Given the description of an element on the screen output the (x, y) to click on. 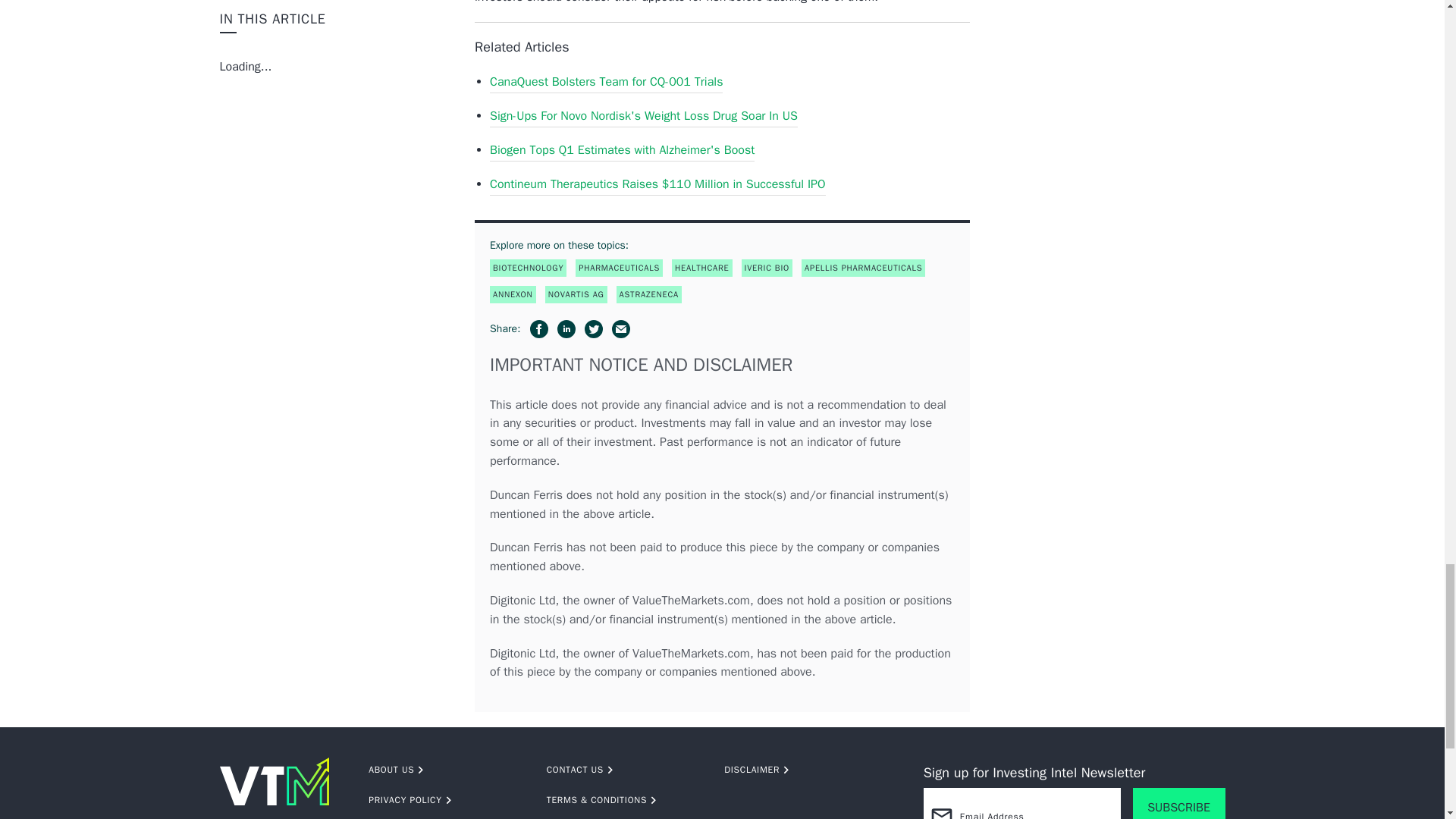
Biogen Tops Q1 Estimates with Alzheimer's Boost (621, 150)
PHARMACEUTICALS (618, 267)
Biogen Tops Q1 Estimates with Alzheimer's Boost (621, 150)
CanaQuest Bolsters Team for CQ-001 Trials (605, 82)
CanaQuest Bolsters Team for CQ-001 Trials (605, 82)
Sign-Ups For Novo Nordisk's Weight Loss Drug Soar In US (643, 116)
Sign-Ups For Novo Nordisk's Weight Loss Drug Soar In US (643, 116)
BIOTECHNOLOGY (527, 267)
